Given the description of an element on the screen output the (x, y) to click on. 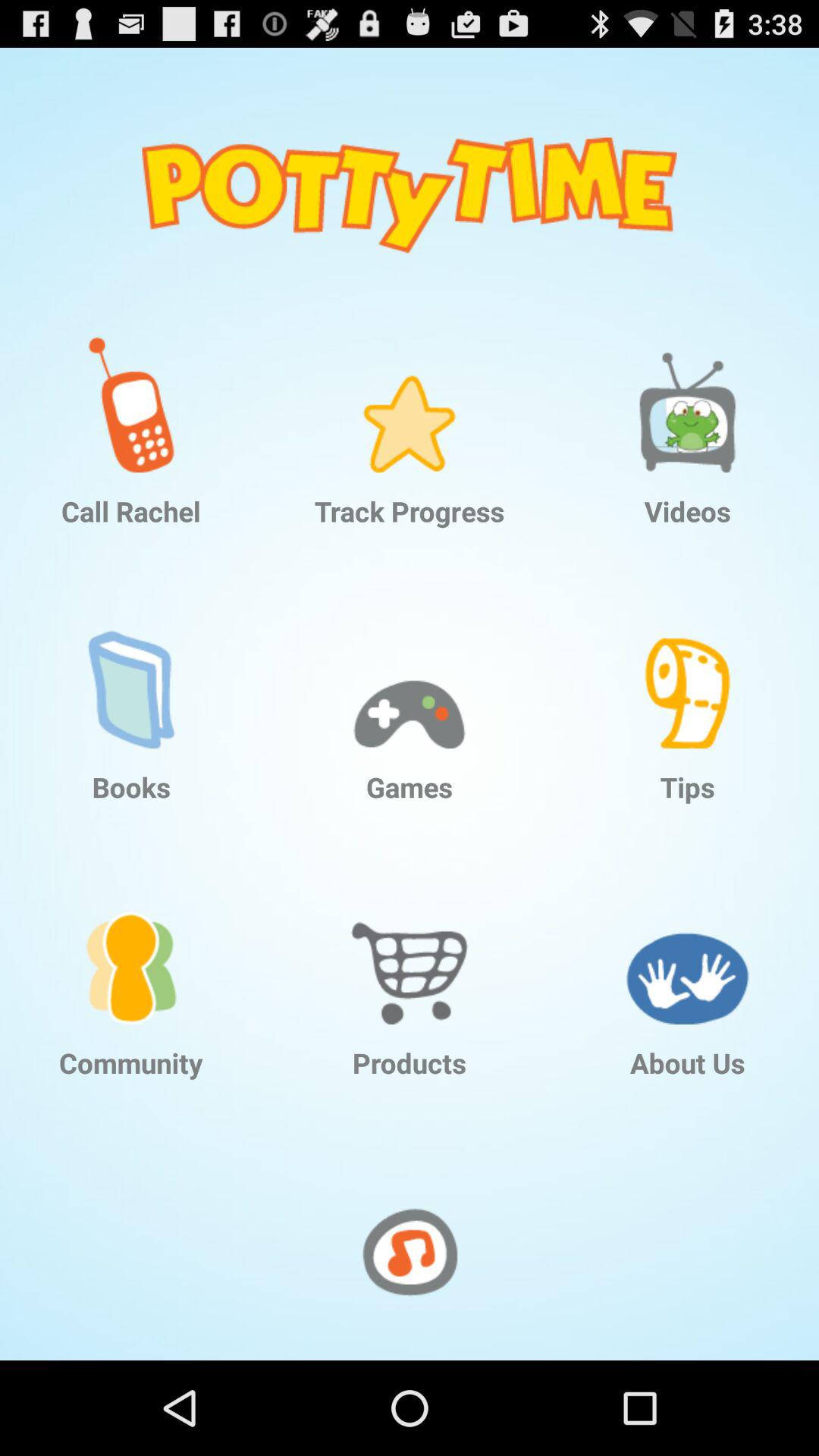
turn on item next to the track progress app (131, 392)
